Given the description of an element on the screen output the (x, y) to click on. 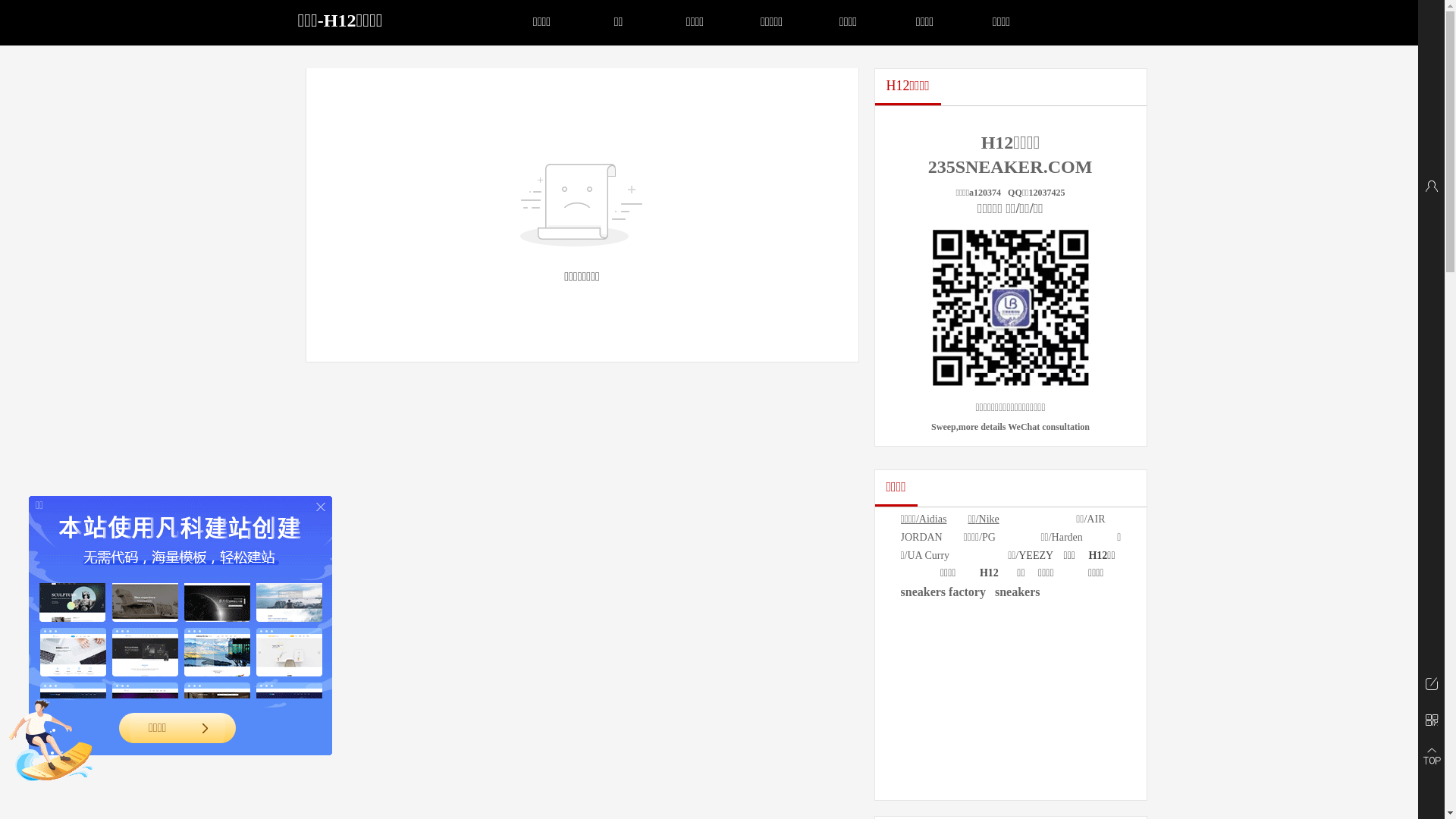
sneakers Element type: text (1017, 592)
H12 Element type: text (988, 572)
sneakers factory Element type: text (942, 592)
